Given the description of an element on the screen output the (x, y) to click on. 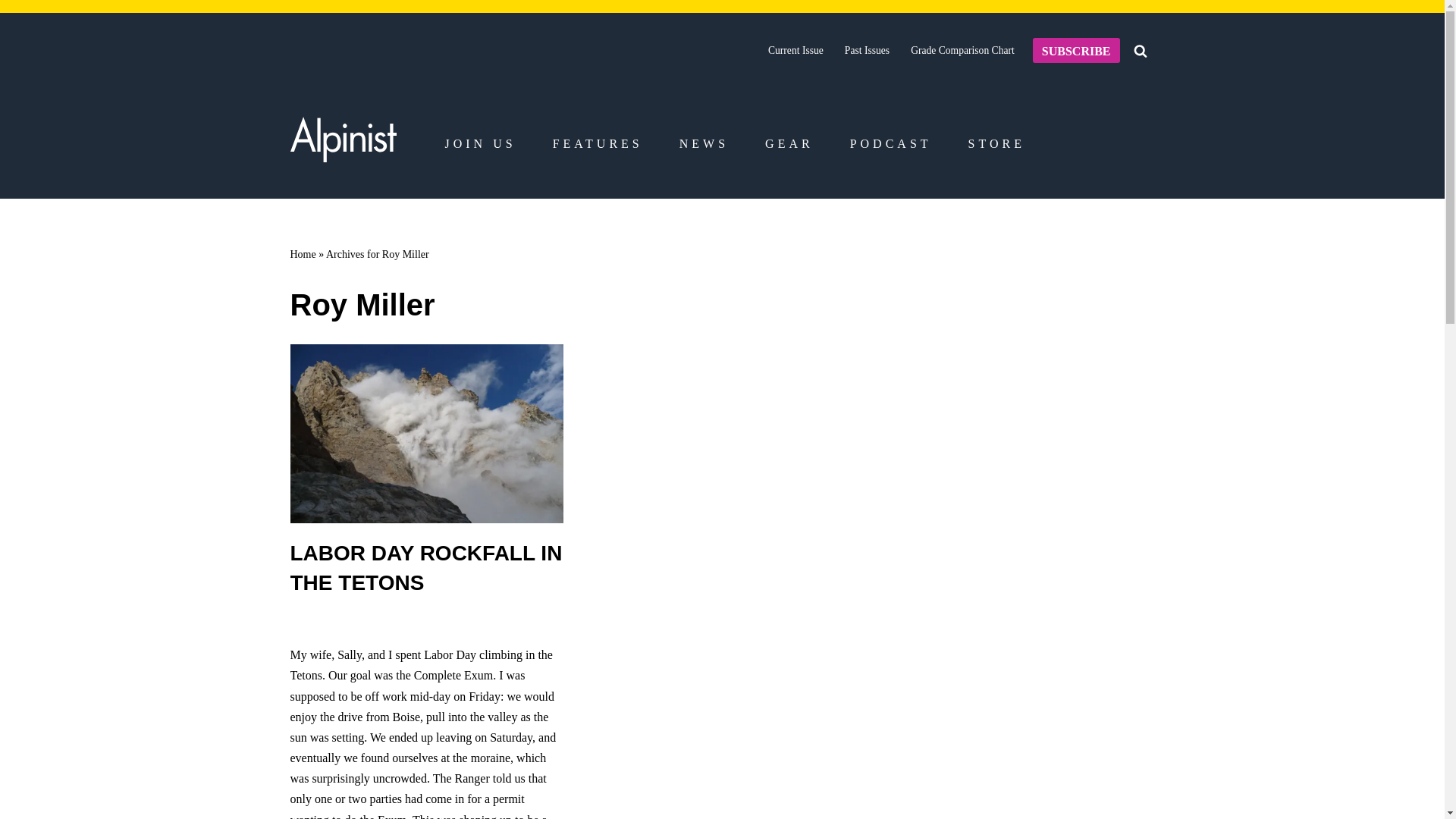
JOIN US (479, 143)
Grade Comparison Chart (962, 49)
Past Issues (866, 49)
LABOR DAY ROCKFALL IN THE TETONS (425, 567)
Current Issue (796, 49)
Skip to content (11, 31)
SUBSCRIBE (1075, 50)
Home (302, 254)
GEAR (789, 143)
NEWS (704, 143)
FEATURES (598, 143)
STORE (996, 143)
LABOR DAY ROCKFALL IN THE TETONS (425, 433)
PODCAST (890, 143)
